Given the description of an element on the screen output the (x, y) to click on. 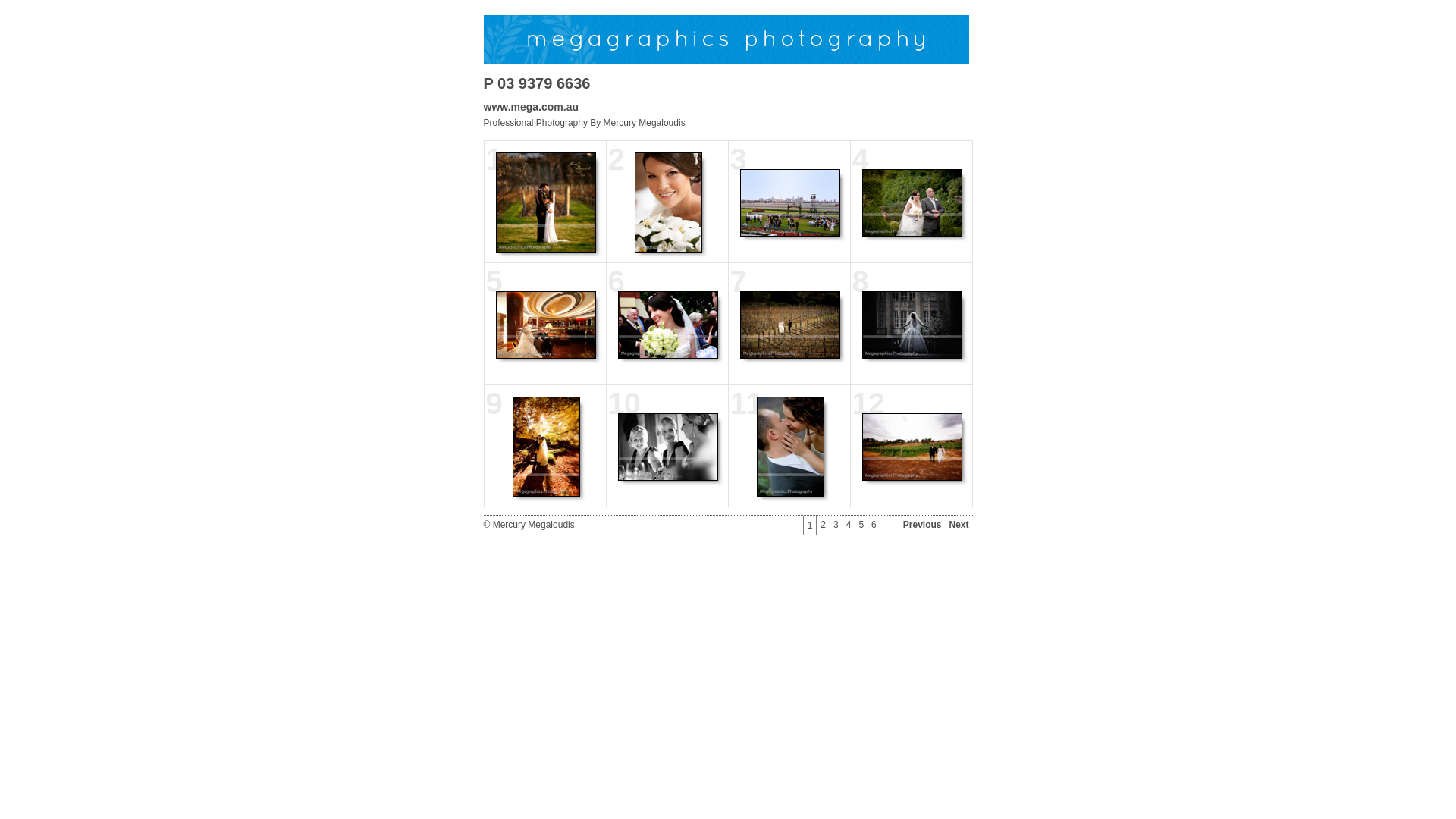
2 Element type: text (822, 524)
10 Element type: text (666, 445)
8 Element type: text (910, 323)
1 Element type: text (544, 201)
www.mega.com.au Element type: text (727, 106)
7 Element type: text (789, 323)
4 Element type: text (910, 201)
6 Element type: text (873, 524)
12 Element type: text (910, 445)
9 Element type: text (544, 445)
Next Element type: text (958, 524)
6 Element type: text (666, 323)
5 Element type: text (860, 524)
5 Element type: text (544, 323)
3 Element type: text (835, 524)
3 Element type: text (789, 201)
Professional Photography By Mercury Megaloudis Element type: text (727, 122)
4 Element type: text (848, 524)
P 03 9379 6636 Element type: text (727, 83)
2 Element type: text (666, 201)
11 Element type: text (789, 445)
